Given the description of an element on the screen output the (x, y) to click on. 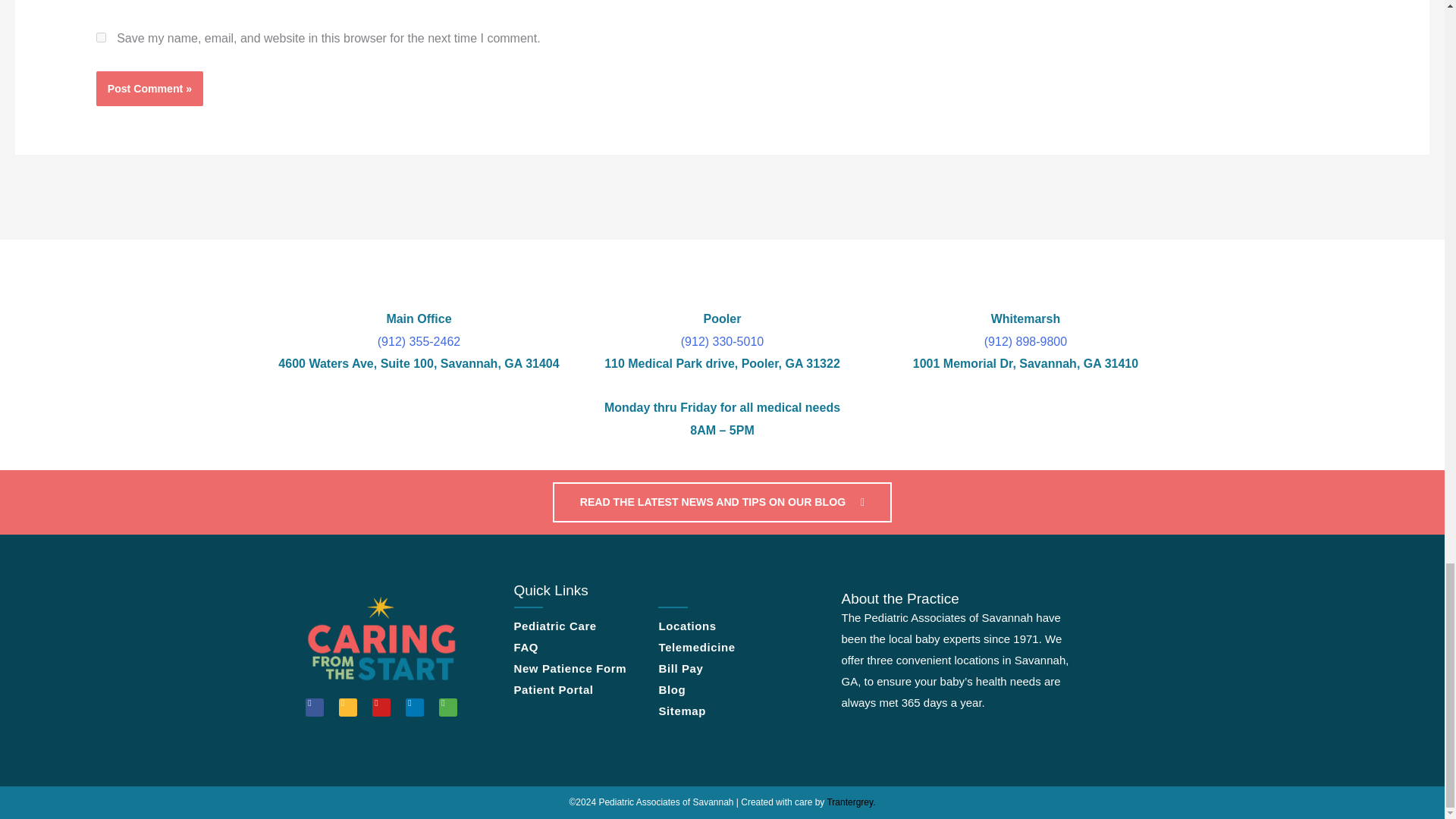
yes (101, 37)
